Given the description of an element on the screen output the (x, y) to click on. 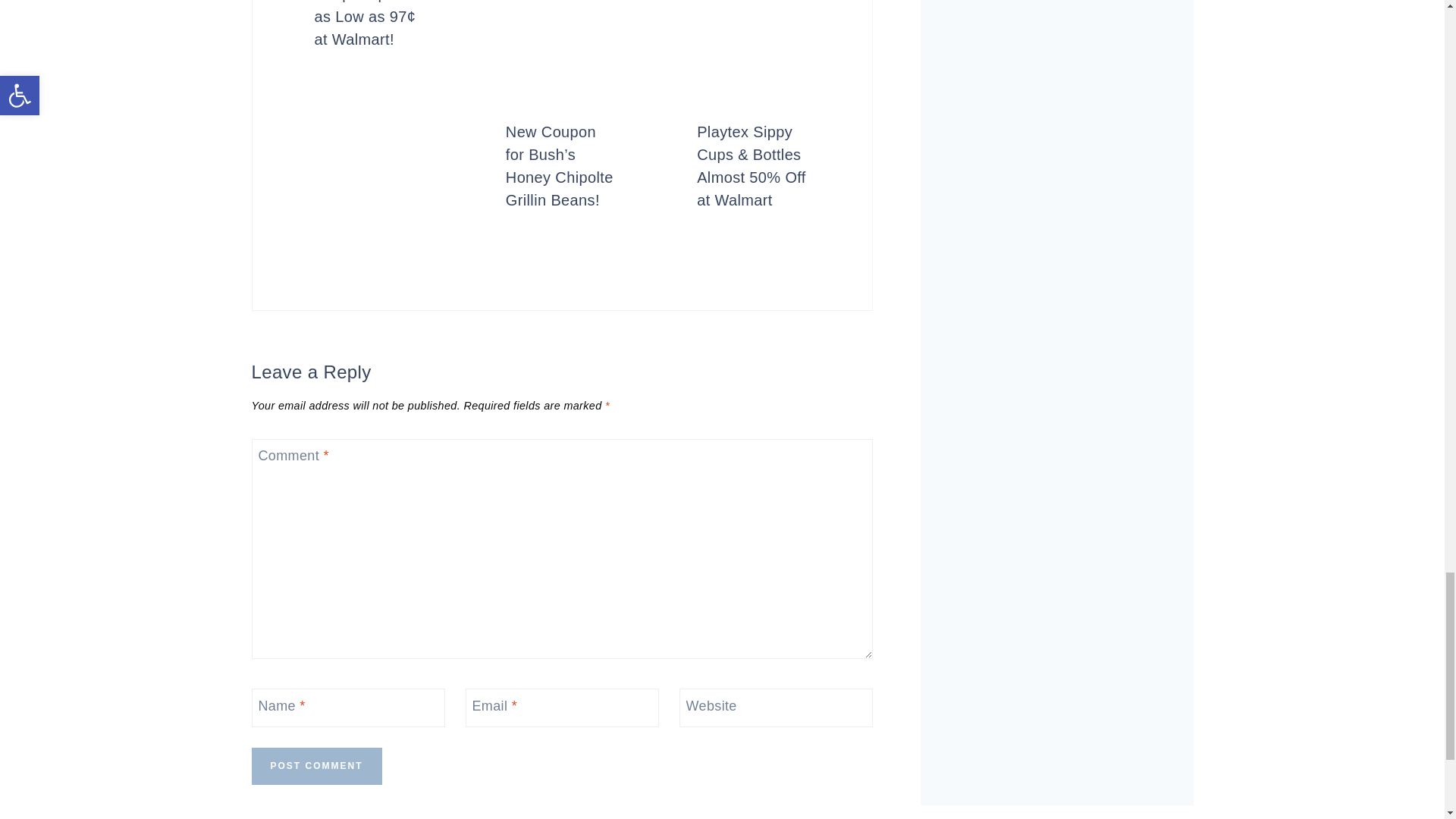
Post Comment (316, 765)
